Given the description of an element on the screen output the (x, y) to click on. 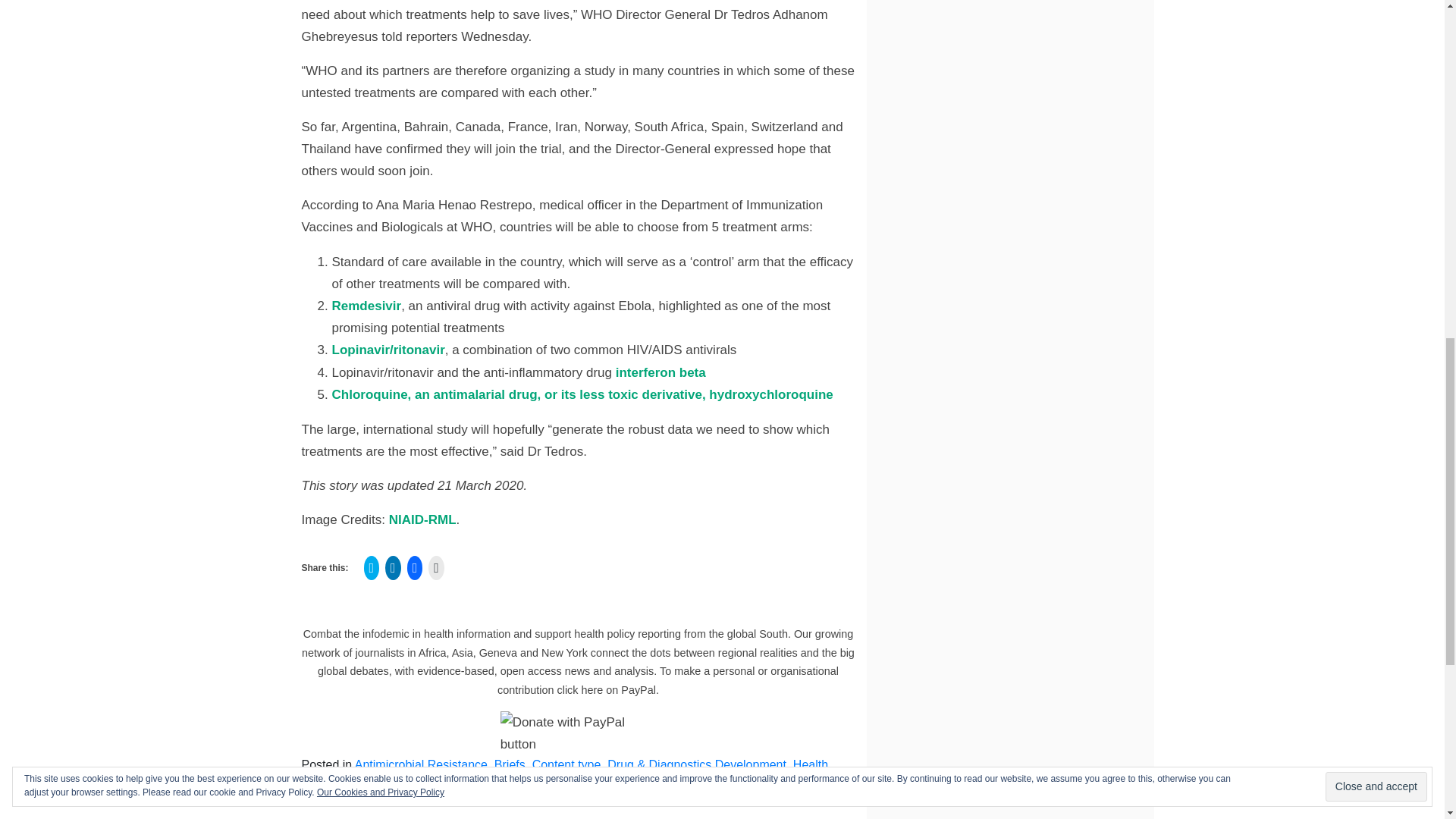
interferon beta (658, 372)
Remdesivir (366, 305)
NIAID-RML (422, 519)
Content type (566, 764)
Antimicrobial Resistance (421, 764)
Health Systems (564, 773)
Briefs (510, 764)
